Given the description of an element on the screen output the (x, y) to click on. 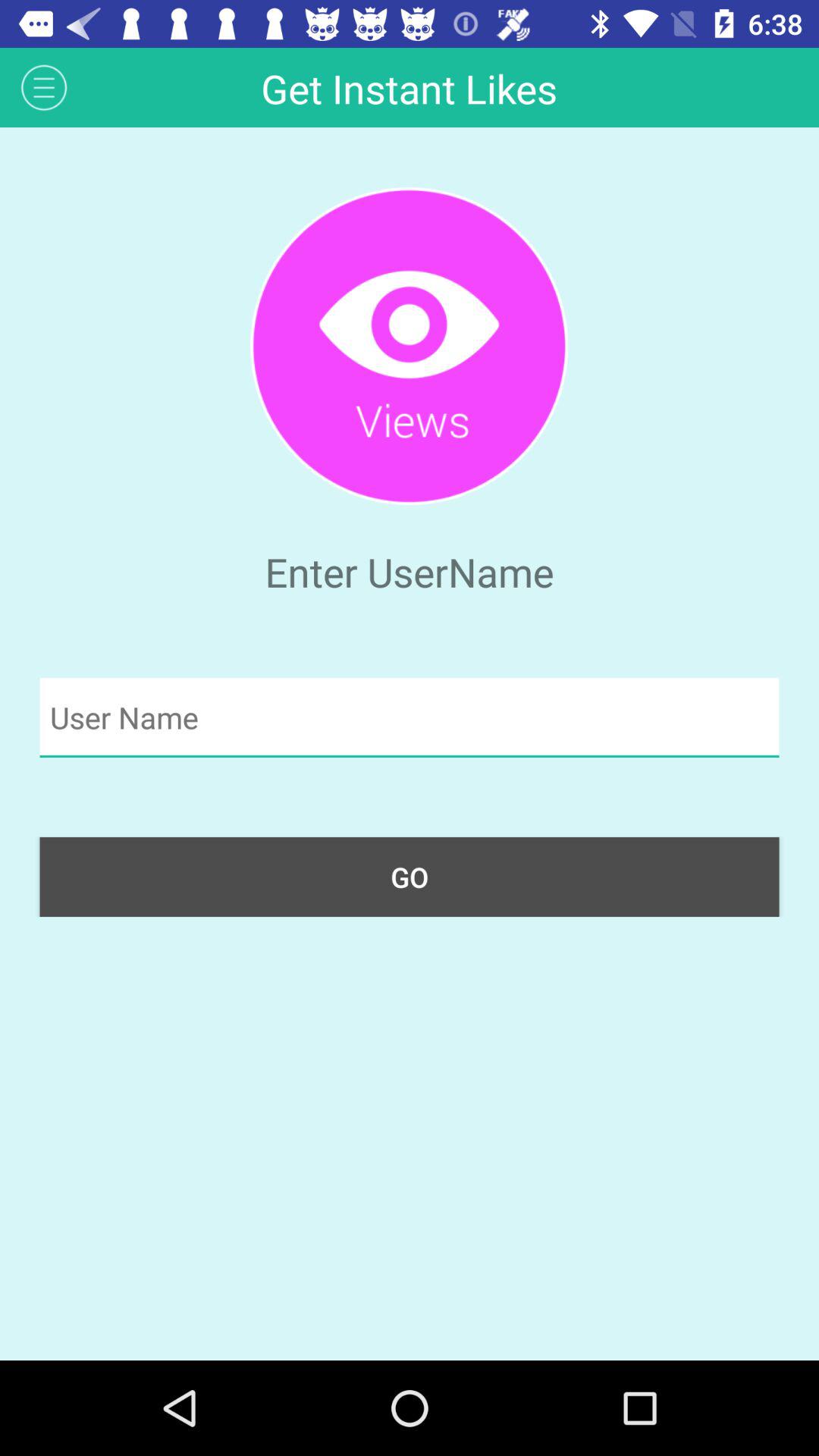
turn off icon at the top left corner (44, 87)
